Given the description of an element on the screen output the (x, y) to click on. 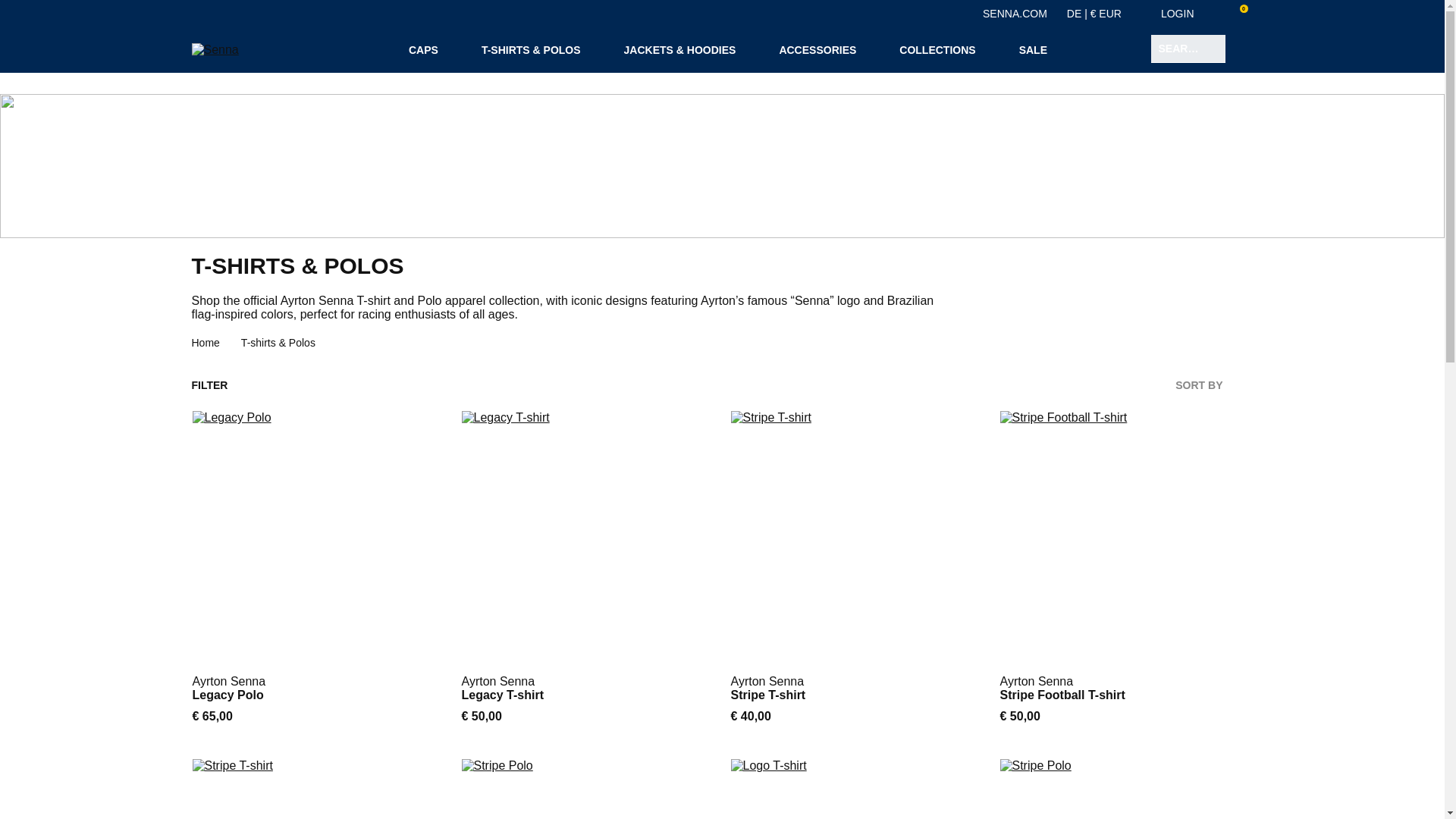
cart (1239, 12)
account (1206, 13)
0 (1239, 13)
Senna Home (214, 50)
SENNA.COM (1014, 13)
Cart 0 Items (1239, 13)
LOGIN (1187, 13)
